Given the description of an element on the screen output the (x, y) to click on. 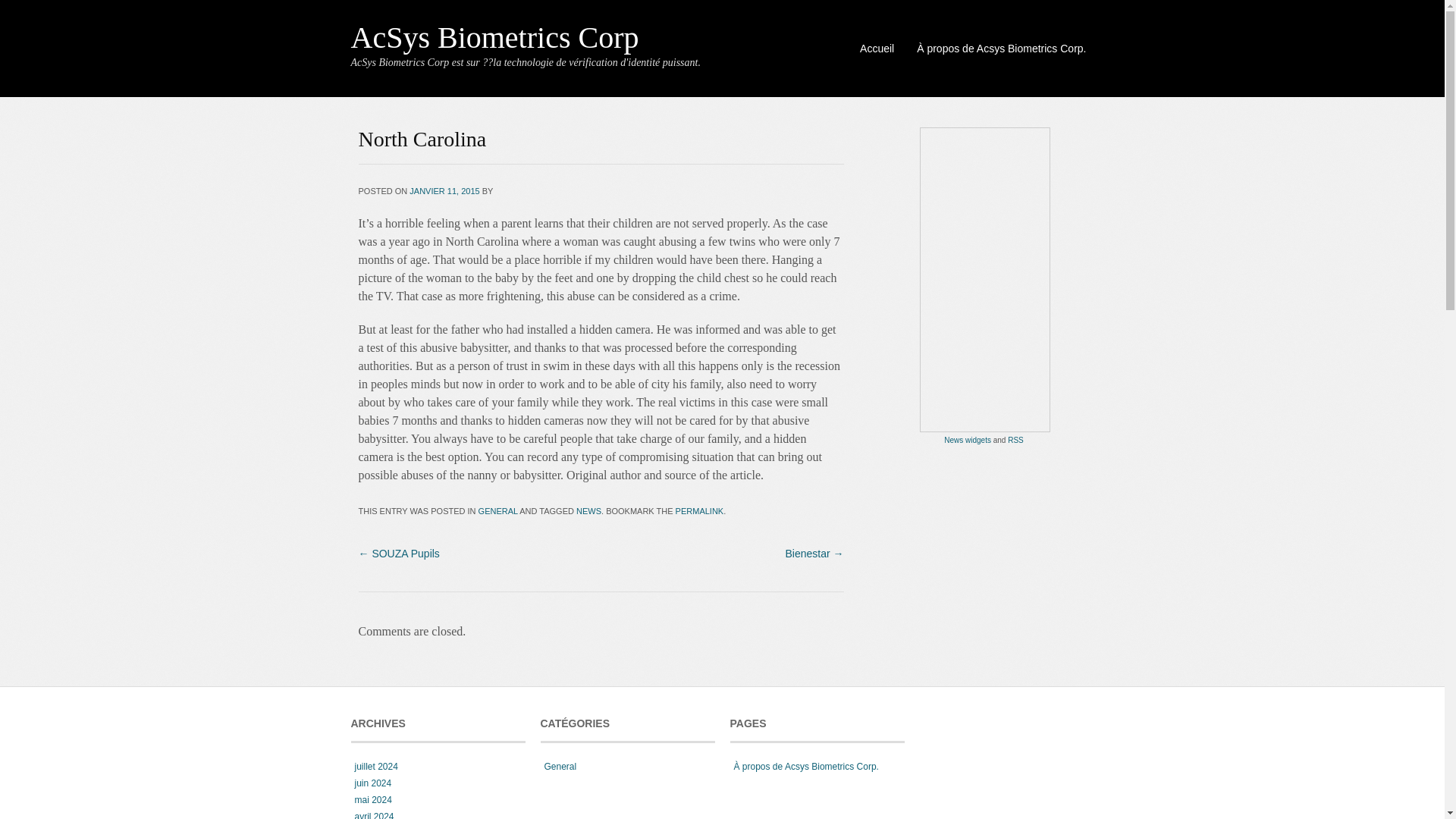
JANVIER 11, 2015 (444, 190)
GENERAL (498, 510)
avril 2024 (371, 815)
NEWS (588, 510)
Accueil (876, 47)
PERMALINK (699, 510)
RSS (1015, 439)
AcSys Biometrics Corp (494, 37)
News widgets (967, 439)
AcSys Biometrics Corp (494, 37)
Free RSS feeds (1015, 439)
juin 2024 (370, 783)
mai 2024 (370, 799)
Permalink to North Carolina (699, 510)
Free news widgets (967, 439)
